Given the description of an element on the screen output the (x, y) to click on. 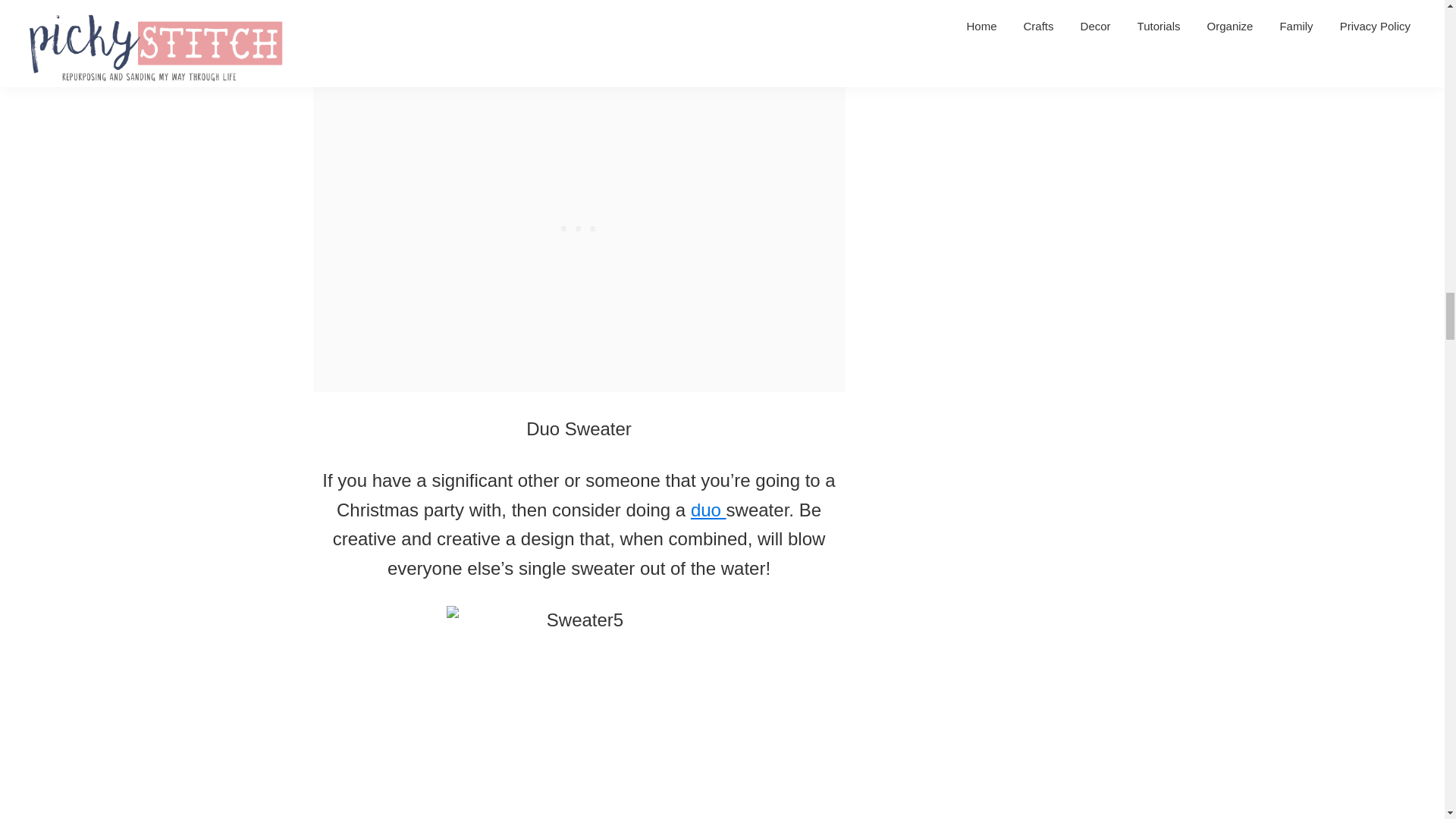
duo (708, 509)
